Given the description of an element on the screen output the (x, y) to click on. 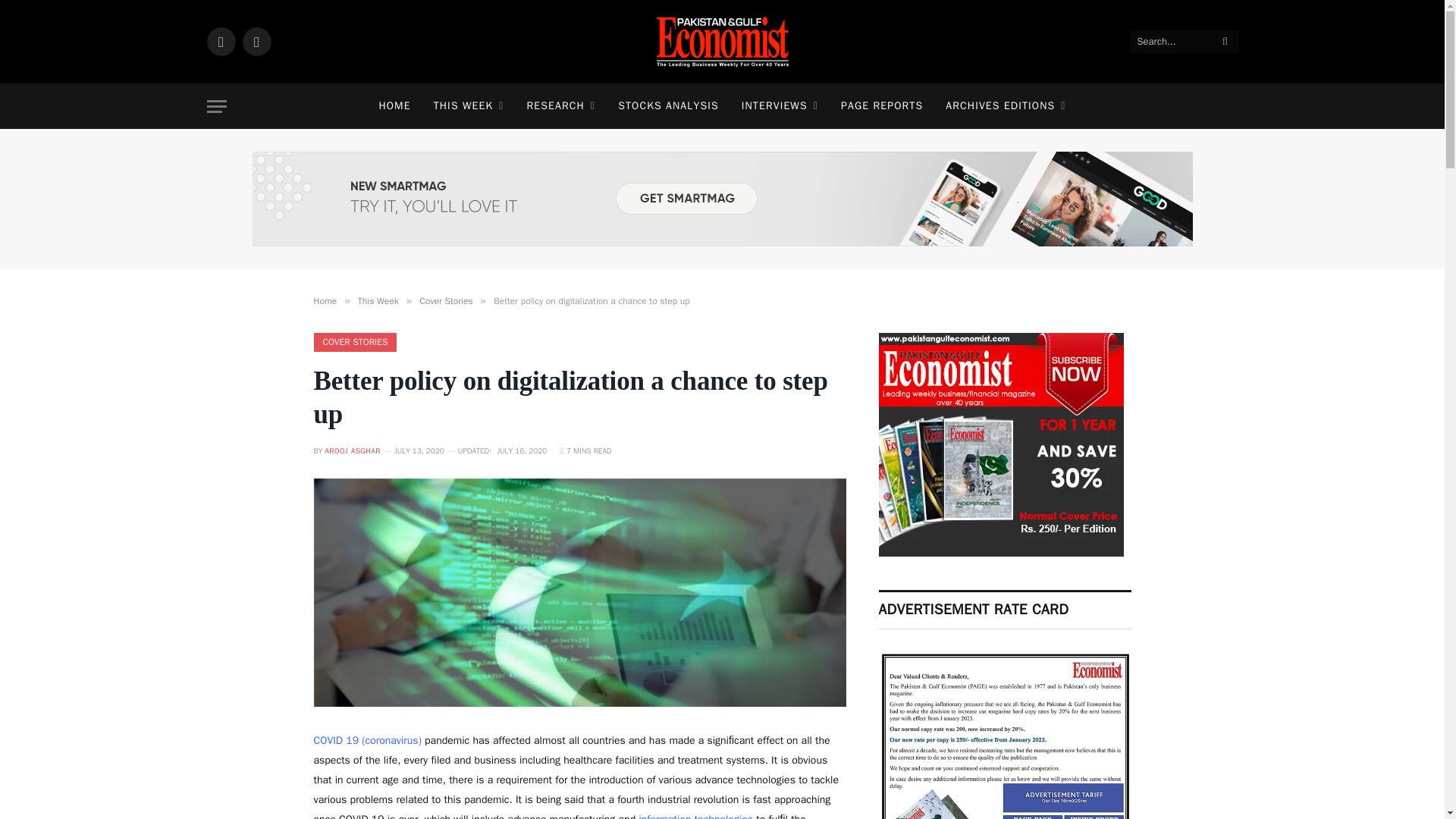
Instagram (256, 41)
THIS WEEK (468, 105)
RESEARCH (561, 105)
Facebook (220, 41)
HOME (394, 105)
